Given the description of an element on the screen output the (x, y) to click on. 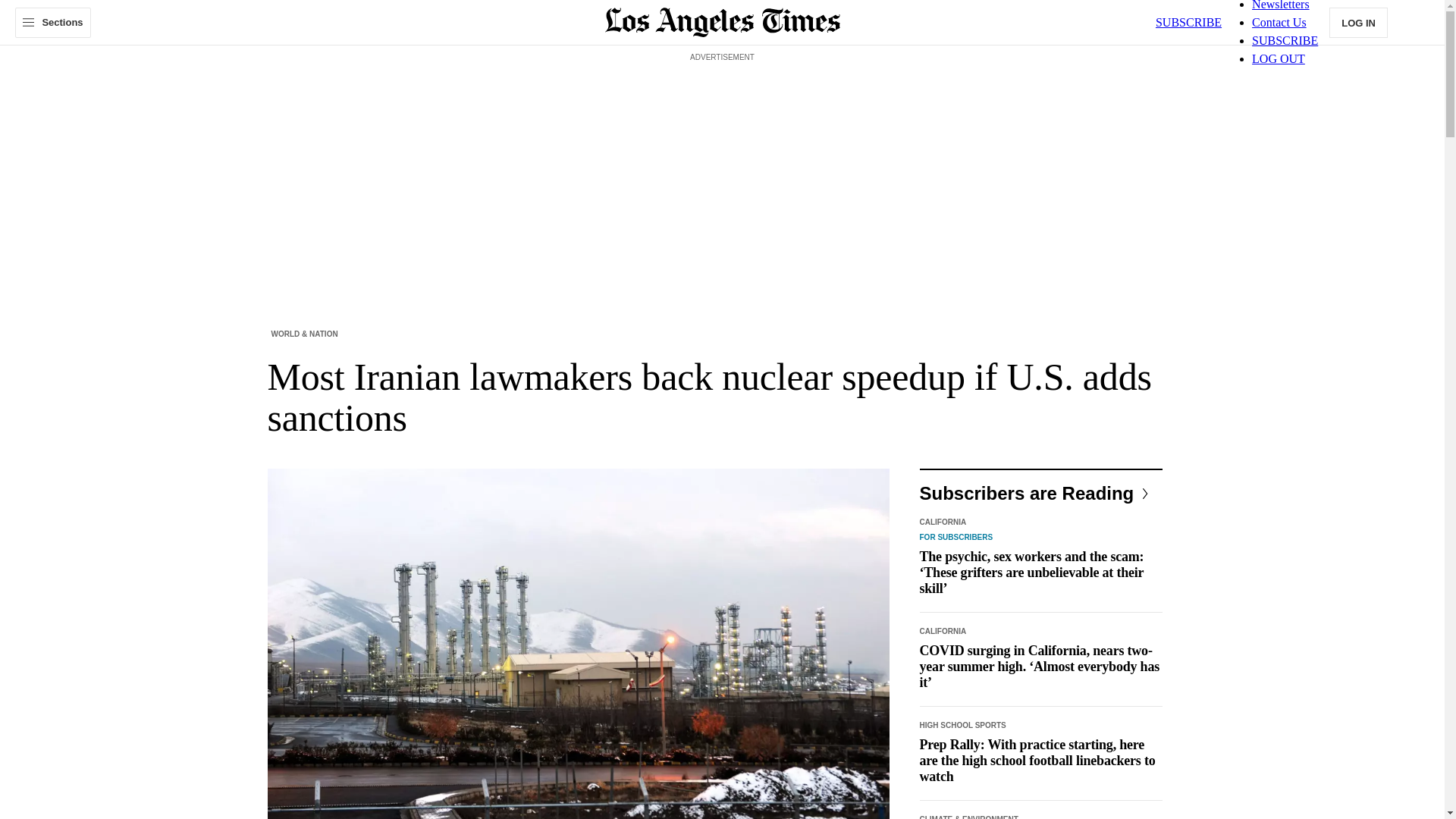
3rd party ad content (721, 100)
